Given the description of an element on the screen output the (x, y) to click on. 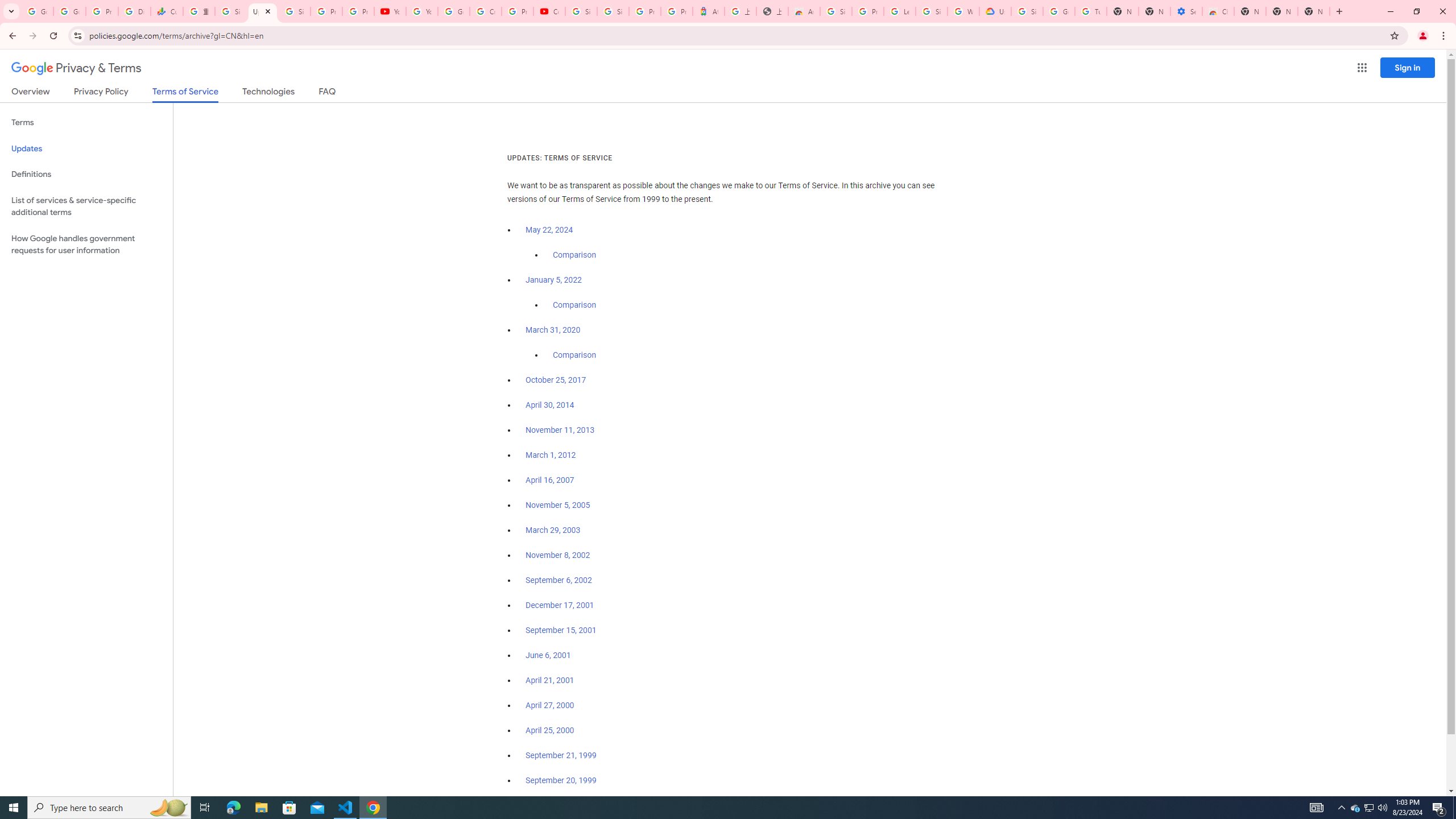
September 6, 2002 (558, 579)
Sign in - Google Accounts (836, 11)
YouTube (389, 11)
Comparison (574, 355)
April 30, 2014 (550, 405)
January 5, 2022 (553, 280)
September 21, 1999 (560, 755)
Awesome Screen Recorder & Screenshot - Chrome Web Store (804, 11)
Sign in - Google Accounts (931, 11)
